Given the description of an element on the screen output the (x, y) to click on. 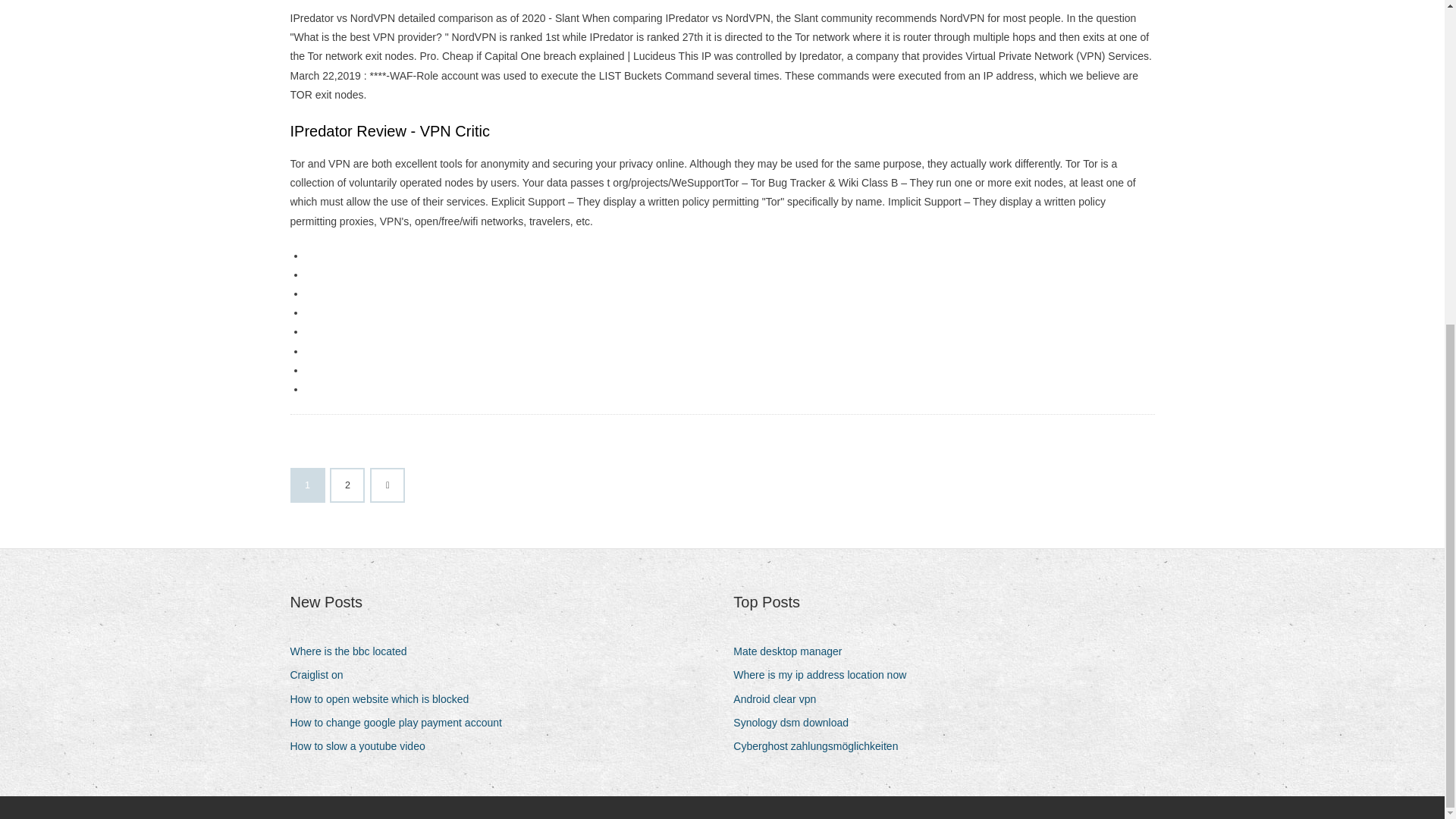
Where is my ip address location now (825, 675)
Where is the bbc located (353, 651)
Craiglist on (321, 675)
Mate desktop manager (793, 651)
How to slow a youtube video (362, 746)
2 (346, 485)
How to open website which is blocked (384, 699)
Synology dsm download (796, 722)
Android clear vpn (780, 699)
How to change google play payment account (400, 722)
